Given the description of an element on the screen output the (x, y) to click on. 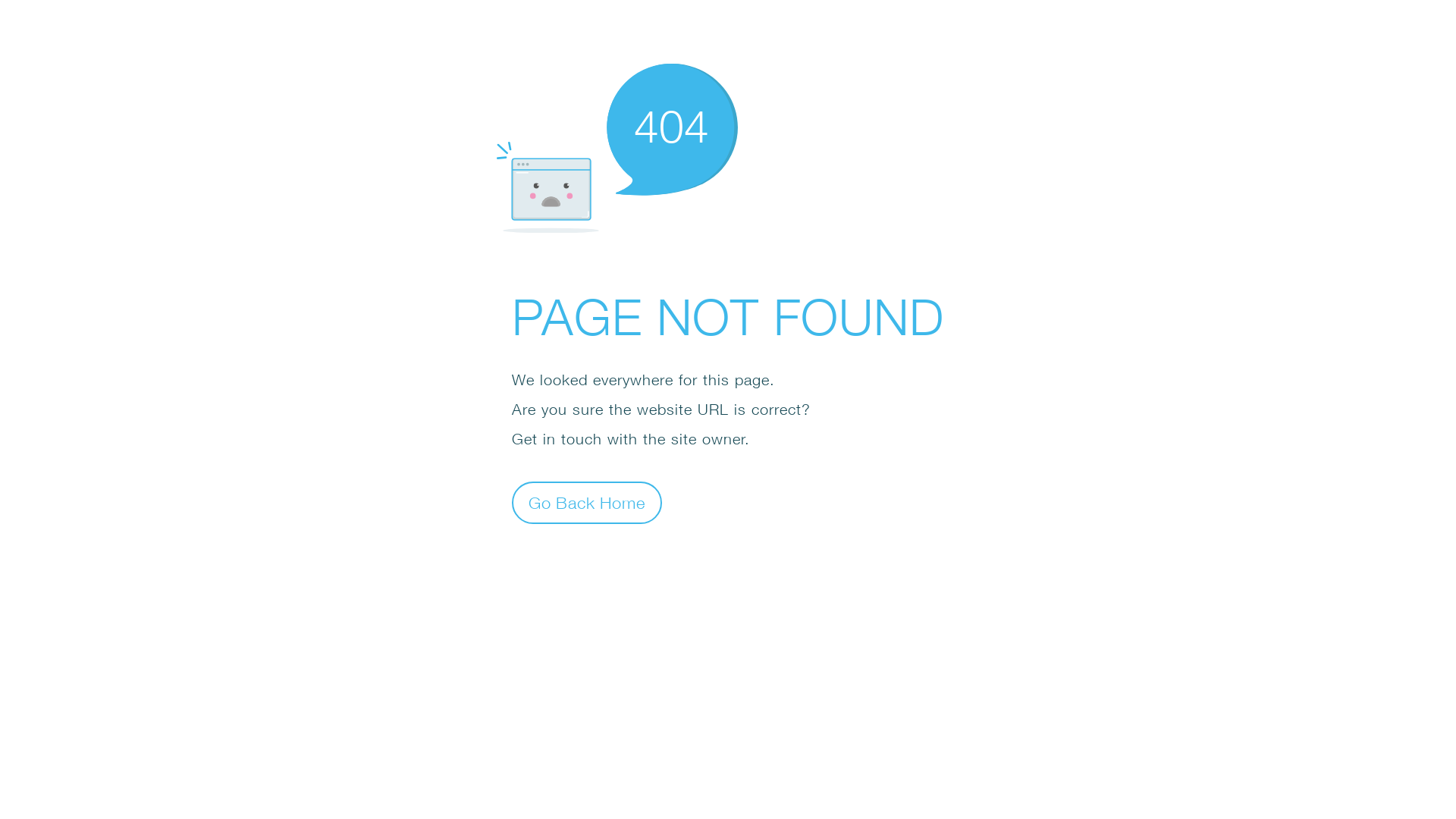
Go Back Home Element type: text (586, 502)
